Given the description of an element on the screen output the (x, y) to click on. 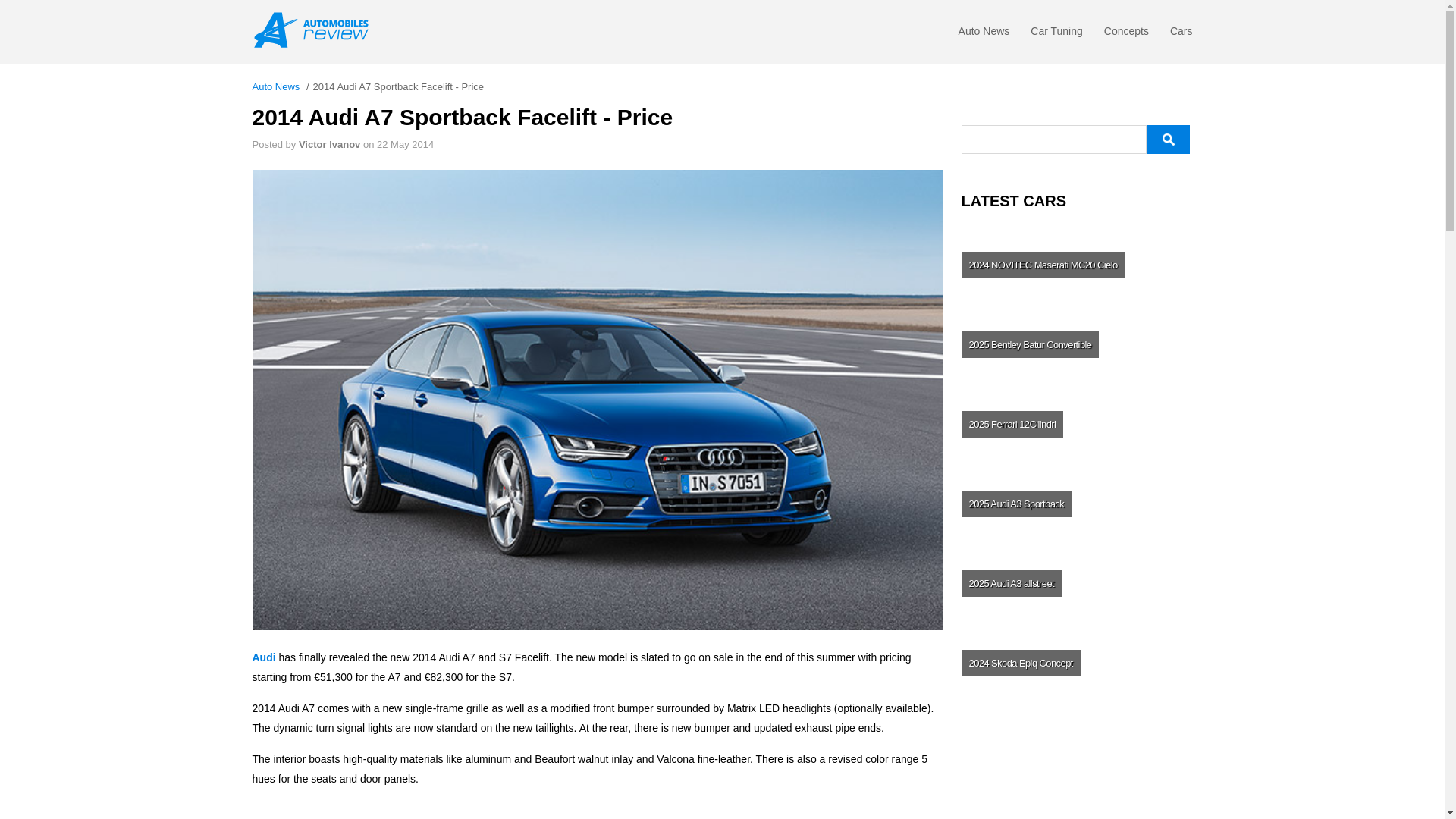
Audi A3 allstreet (1074, 582)
Automobilesreview.com (315, 30)
NOVITEC Maserati MC20 Cielo (1074, 264)
LATEST CARS (1076, 200)
Car Tuning (1055, 35)
Cars (1181, 35)
Audi (263, 657)
Auto News (275, 86)
Audi A3 Sportback (1074, 503)
Bentley Batur Convertible (1074, 344)
Cars (1181, 35)
Concepts (1125, 35)
Auto News (984, 35)
Car Tuning (1055, 35)
Concepts (1125, 35)
